Given the description of an element on the screen output the (x, y) to click on. 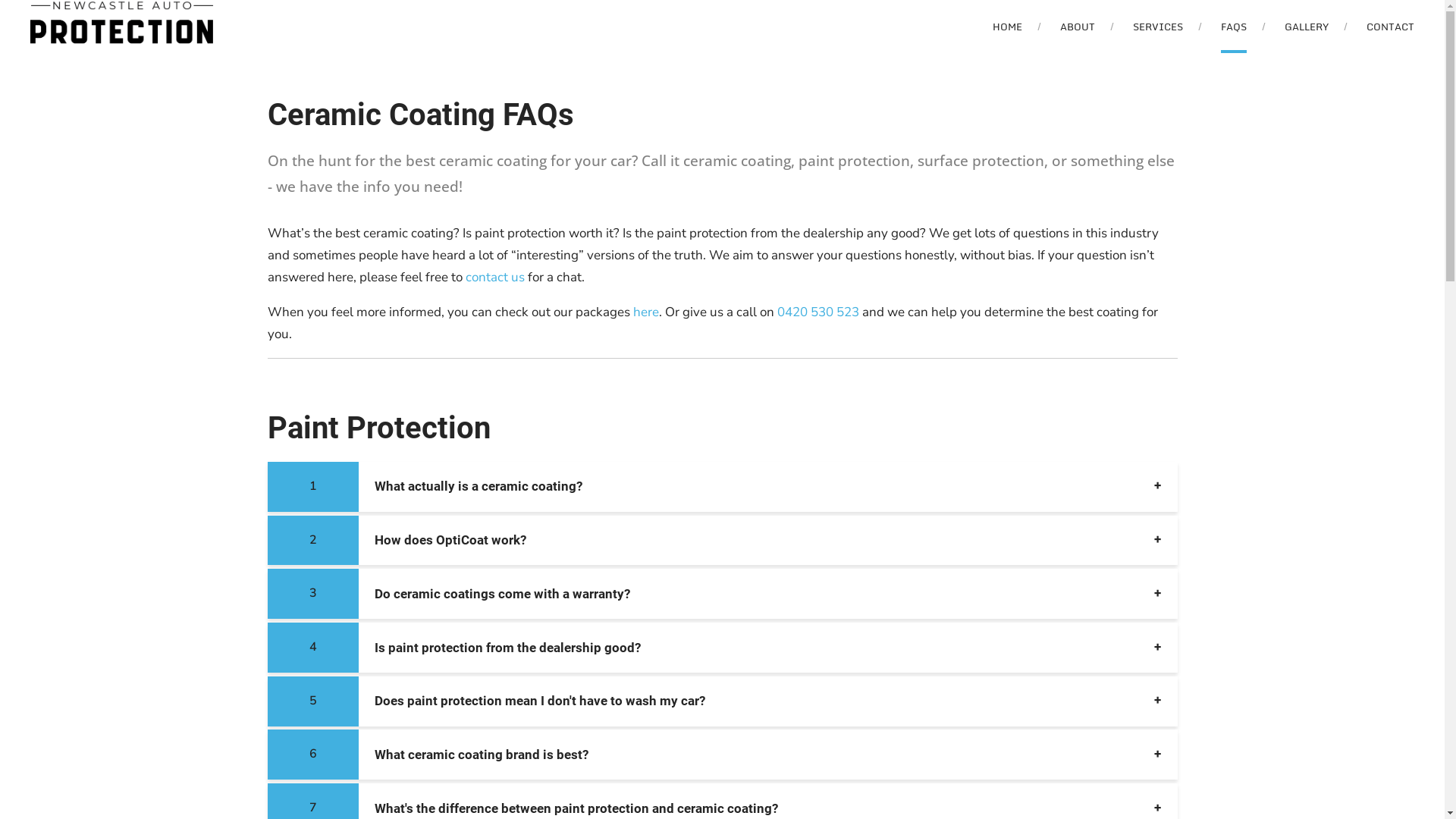
ABOUT Element type: text (1077, 26)
contact us Element type: text (494, 276)
SERVICES Element type: text (1157, 26)
GALLERY Element type: text (1306, 26)
CONTACT Element type: text (1390, 26)
HOME Element type: text (1007, 26)
0420 530 523 Element type: text (817, 311)
FAQS Element type: text (1233, 26)
here Element type: text (645, 311)
